Given the description of an element on the screen output the (x, y) to click on. 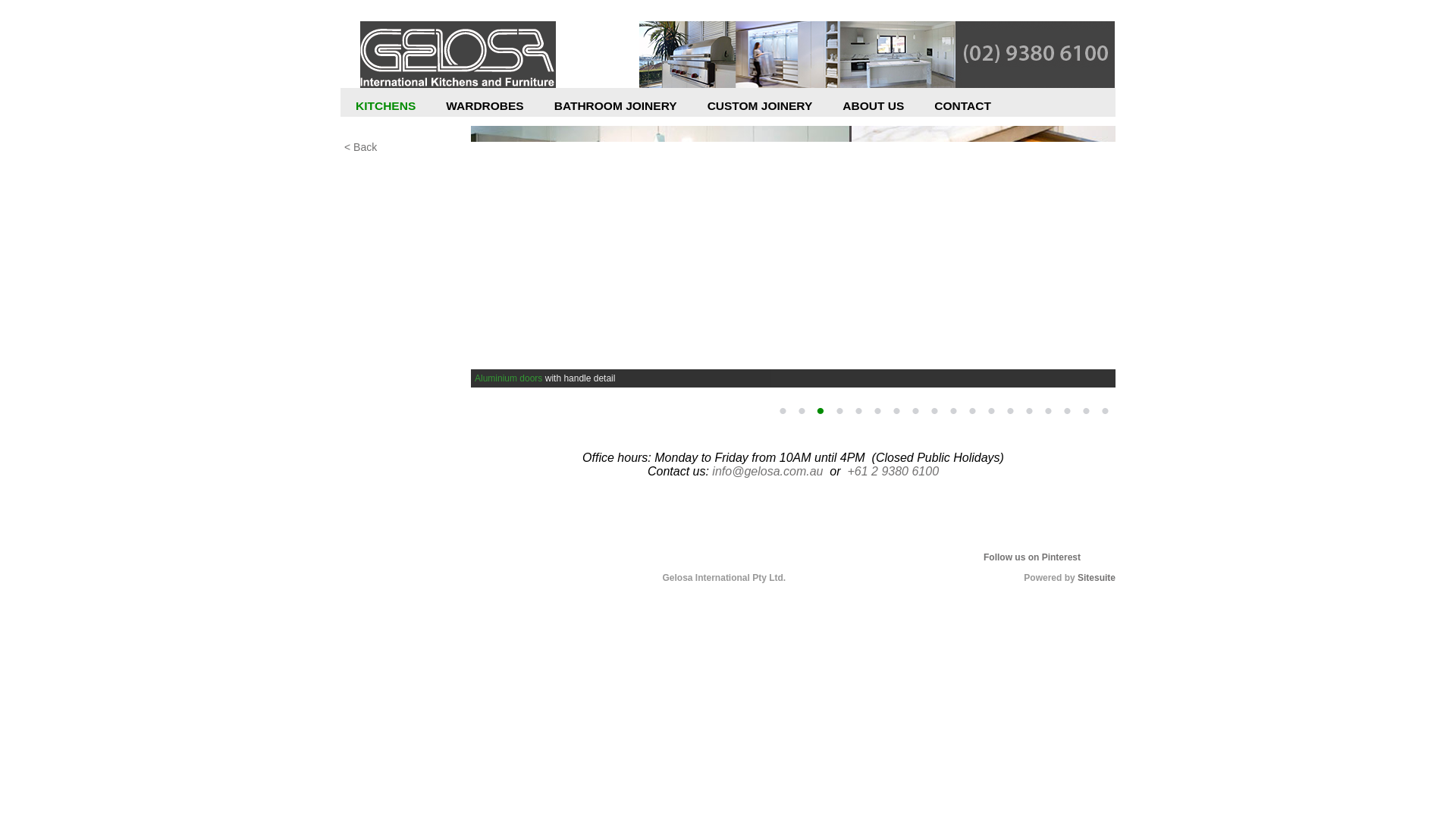
9 Element type: text (933, 410)
Kitchen Design Element type: text (404, 164)
7 Element type: text (896, 410)
BATHROOM JOINERY Element type: text (615, 109)
1 Element type: text (782, 410)
13 Element type: text (1009, 410)
info@gelosa.com.au Element type: text (767, 470)
ABOUT US Element type: text (873, 109)
WARDROBES Element type: text (484, 109)
14 Element type: text (1028, 410)
+61 2 9380 6100 Element type: text (892, 470)
4 Element type: text (839, 410)
Follow us on Pinterest Element type: text (1031, 557)
11 Element type: text (971, 410)
12 Element type: text (990, 410)
CUSTOM JOINERY Element type: text (760, 109)
15 Element type: text (1047, 410)
16 Element type: text (1066, 410)
2 Element type: text (801, 410)
6 Element type: text (877, 410)
17 Element type: text (1085, 410)
8 Element type: text (914, 410)
< Back Element type: text (404, 147)
CONTACT Element type: text (962, 109)
KITCHENS Element type: text (385, 109)
Gelosa Element type: hover (457, 55)
18 Element type: text (1104, 410)
Sitesuite Element type: text (1096, 577)
10 Element type: text (952, 410)
3 Element type: text (820, 410)
5 Element type: text (858, 410)
